Given the description of an element on the screen output the (x, y) to click on. 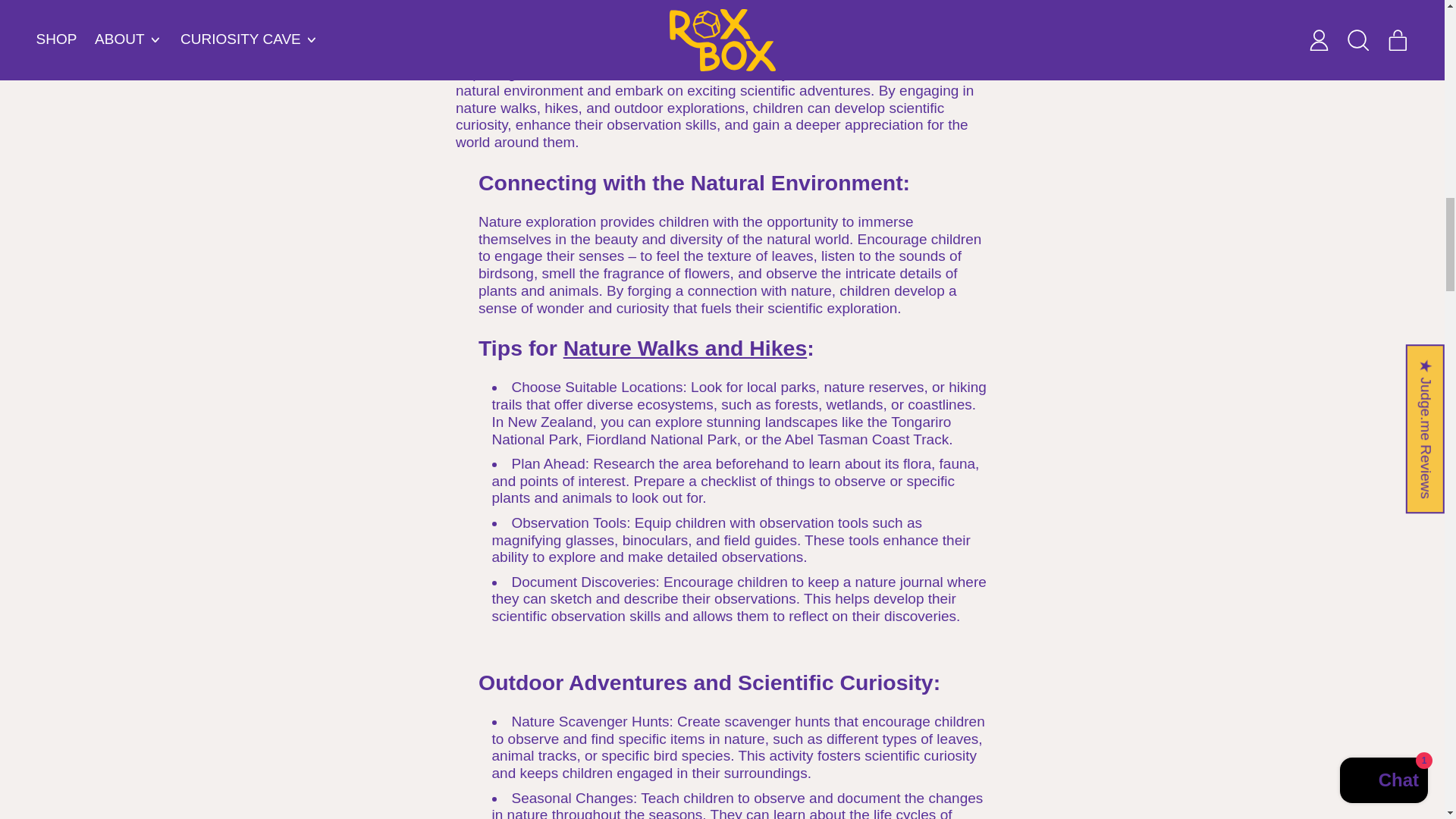
Nature Walks and Hikes (685, 347)
nature walks for kids (685, 347)
